Given the description of an element on the screen output the (x, y) to click on. 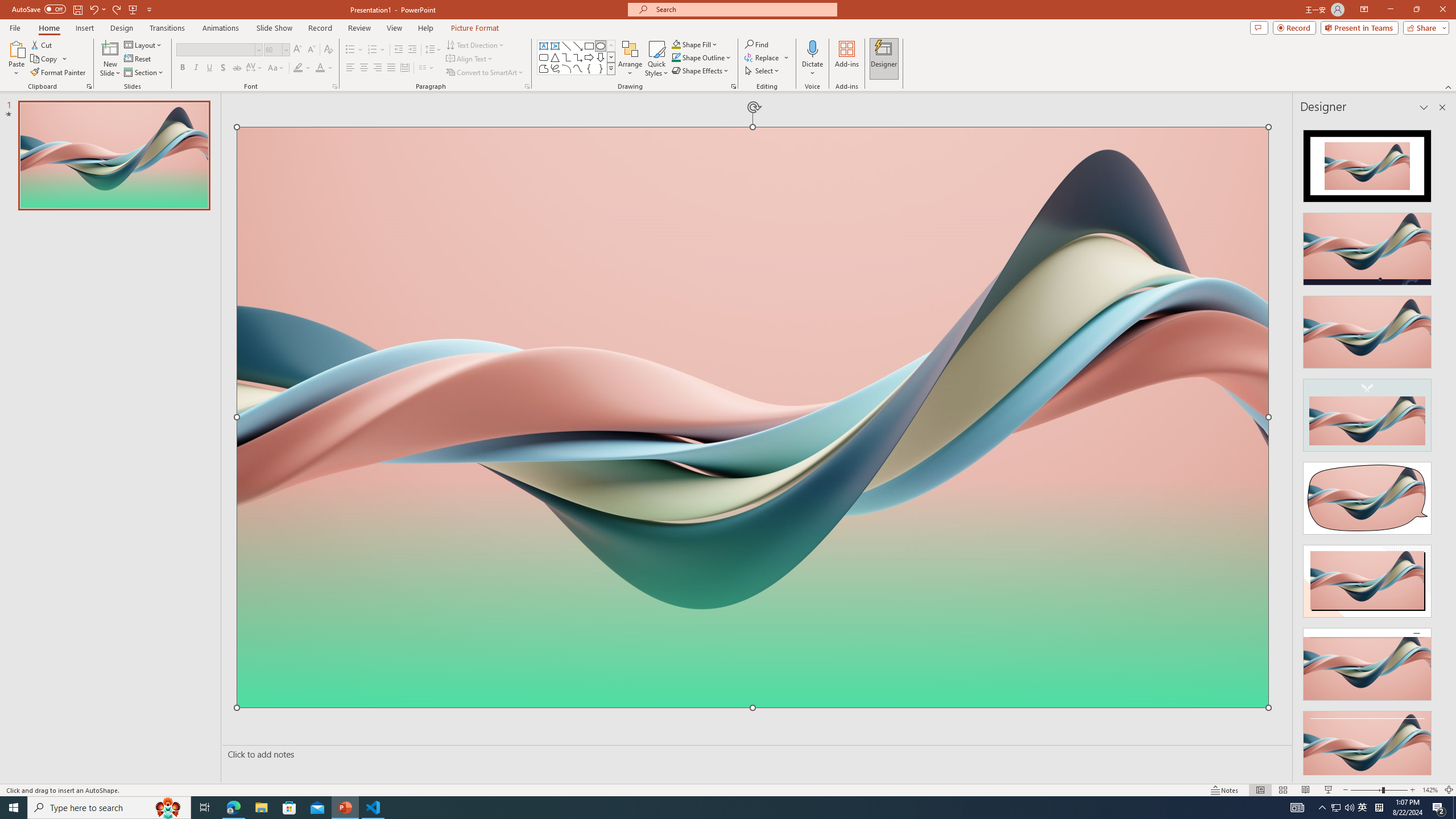
Shape Outline Blue, Accent 1 (675, 56)
